Given the description of an element on the screen output the (x, y) to click on. 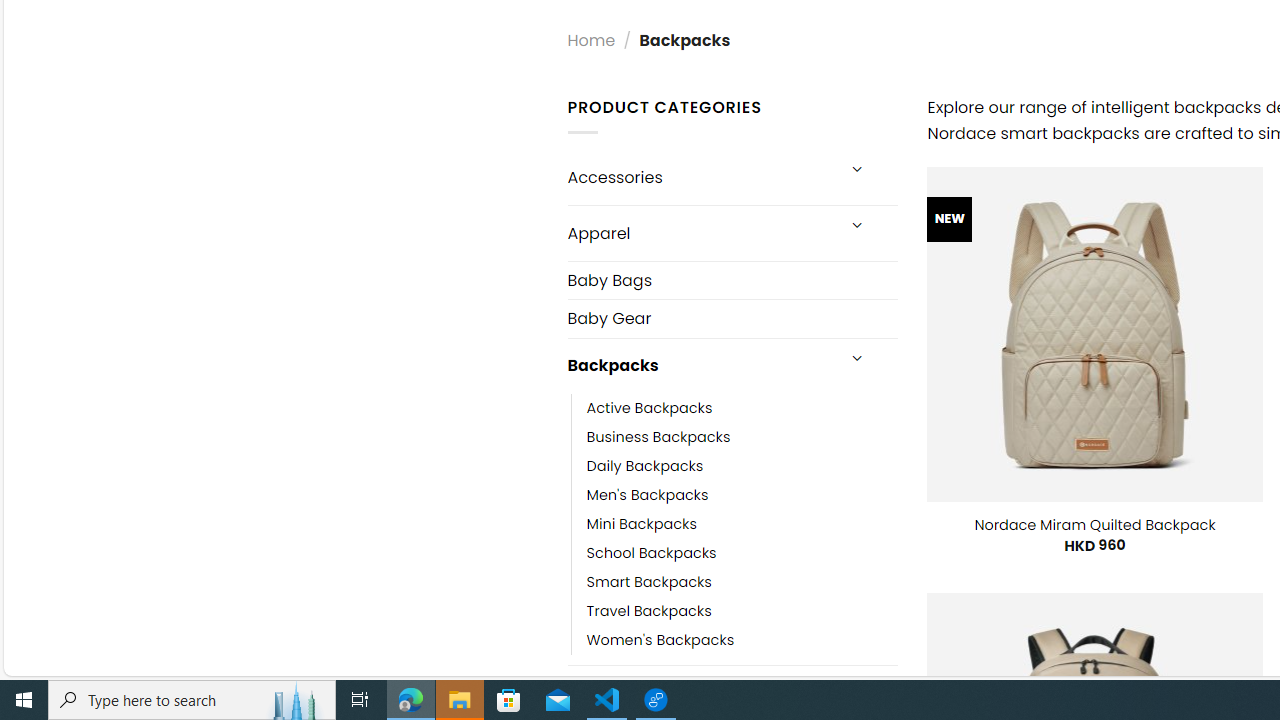
Baby Gear (732, 318)
Travel Backpacks (648, 610)
Baby Bags (732, 279)
Smart Backpacks (742, 581)
Mini Backpacks (641, 524)
Nordace Miram Quilted Backpack (1095, 524)
Active Backpacks (742, 408)
Business Backpacks (742, 436)
Baby Bags (732, 280)
Accessories (700, 177)
Home (591, 39)
Travel Backpacks (742, 610)
Bags (700, 692)
Daily Backpacks (742, 465)
